Given the description of an element on the screen output the (x, y) to click on. 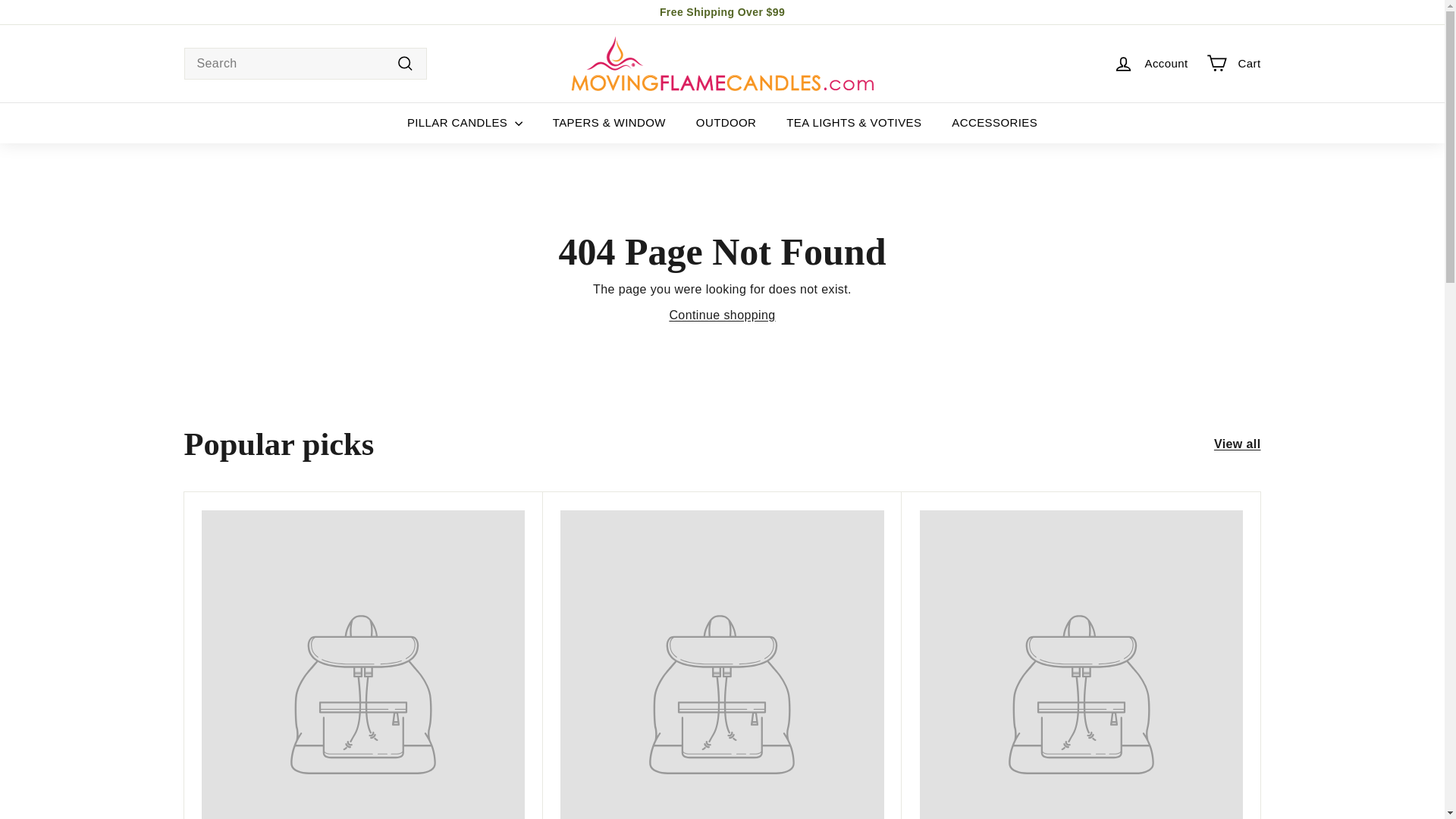
Cart (1232, 62)
Account (1149, 62)
